Given the description of an element on the screen output the (x, y) to click on. 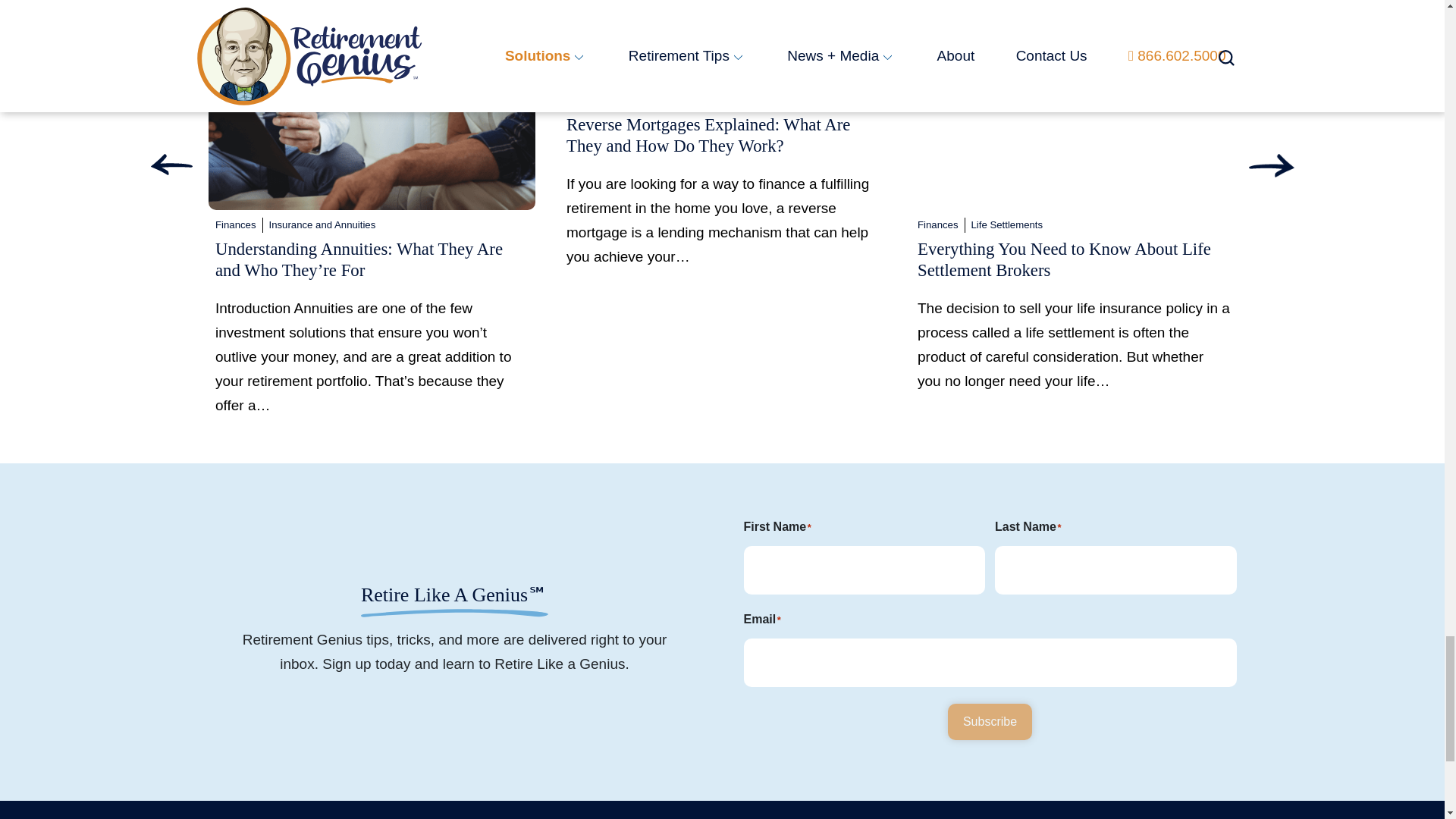
Subscribe (989, 721)
